Given the description of an element on the screen output the (x, y) to click on. 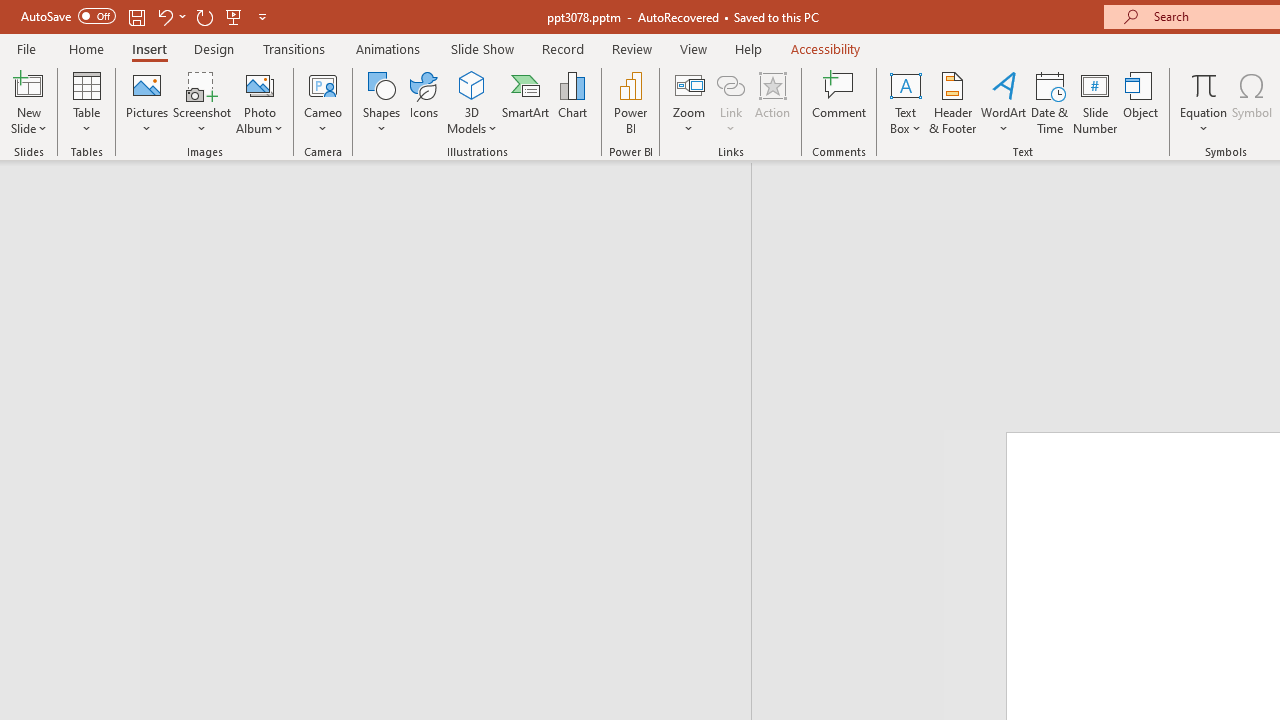
Slide Number (1095, 102)
Object... (1141, 102)
Pictures (147, 102)
3D Models (472, 102)
WordArt (1004, 102)
Date & Time... (1050, 102)
Comment (839, 102)
Table (86, 102)
Power BI (630, 102)
Screenshot (202, 102)
